Given the description of an element on the screen output the (x, y) to click on. 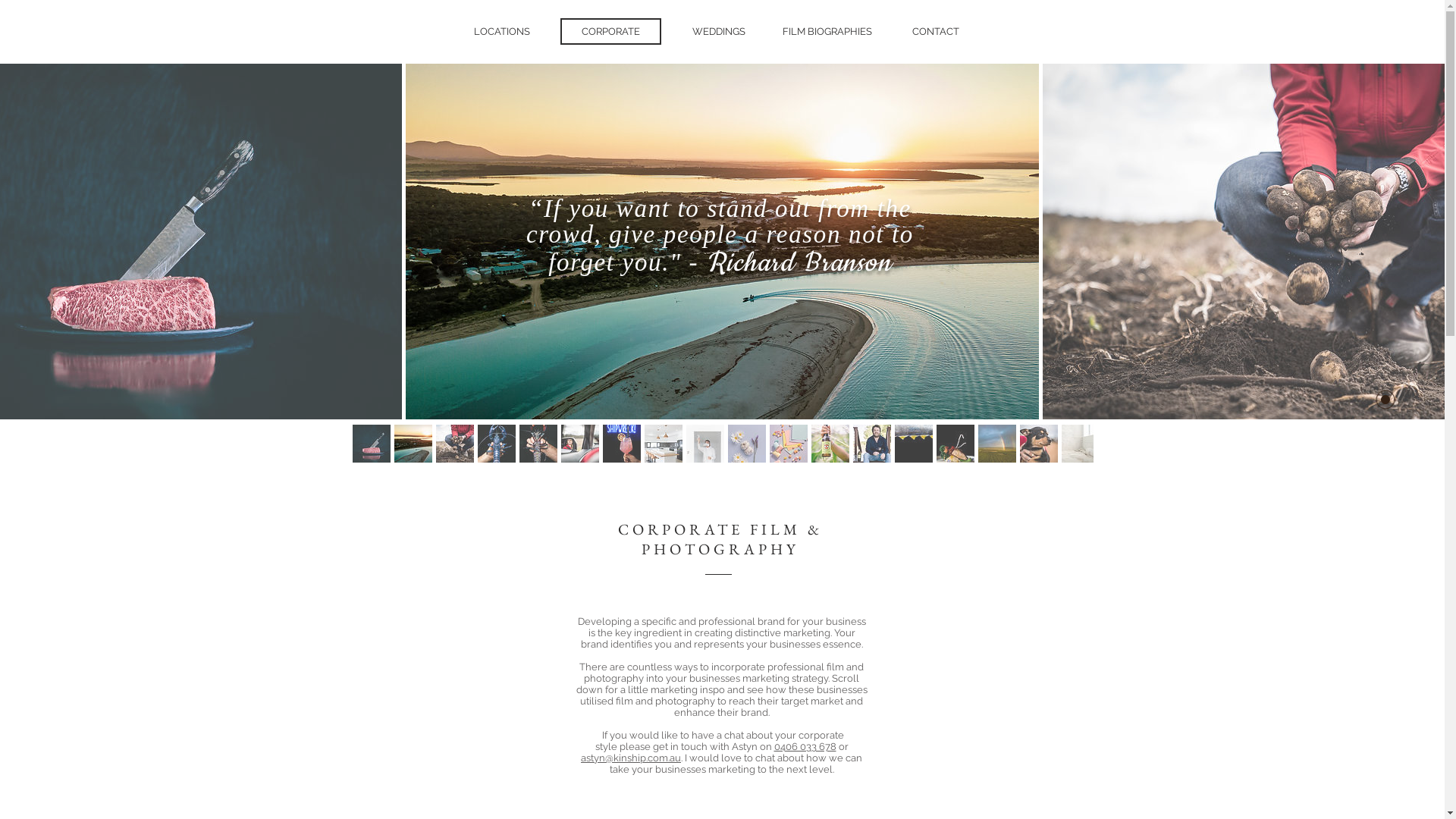
FILM BIOGRAPHIES Element type: text (826, 31)
CORPORATE Element type: text (609, 31)
WEDDINGS Element type: text (718, 31)
CONTACT Element type: text (935, 31)
Embedded Content Element type: hover (564, 50)
astyn@kinship.com.au Element type: text (630, 757)
0406 033 678 Element type: text (804, 746)
LOCATIONS Element type: text (501, 31)
